Given the description of an element on the screen output the (x, y) to click on. 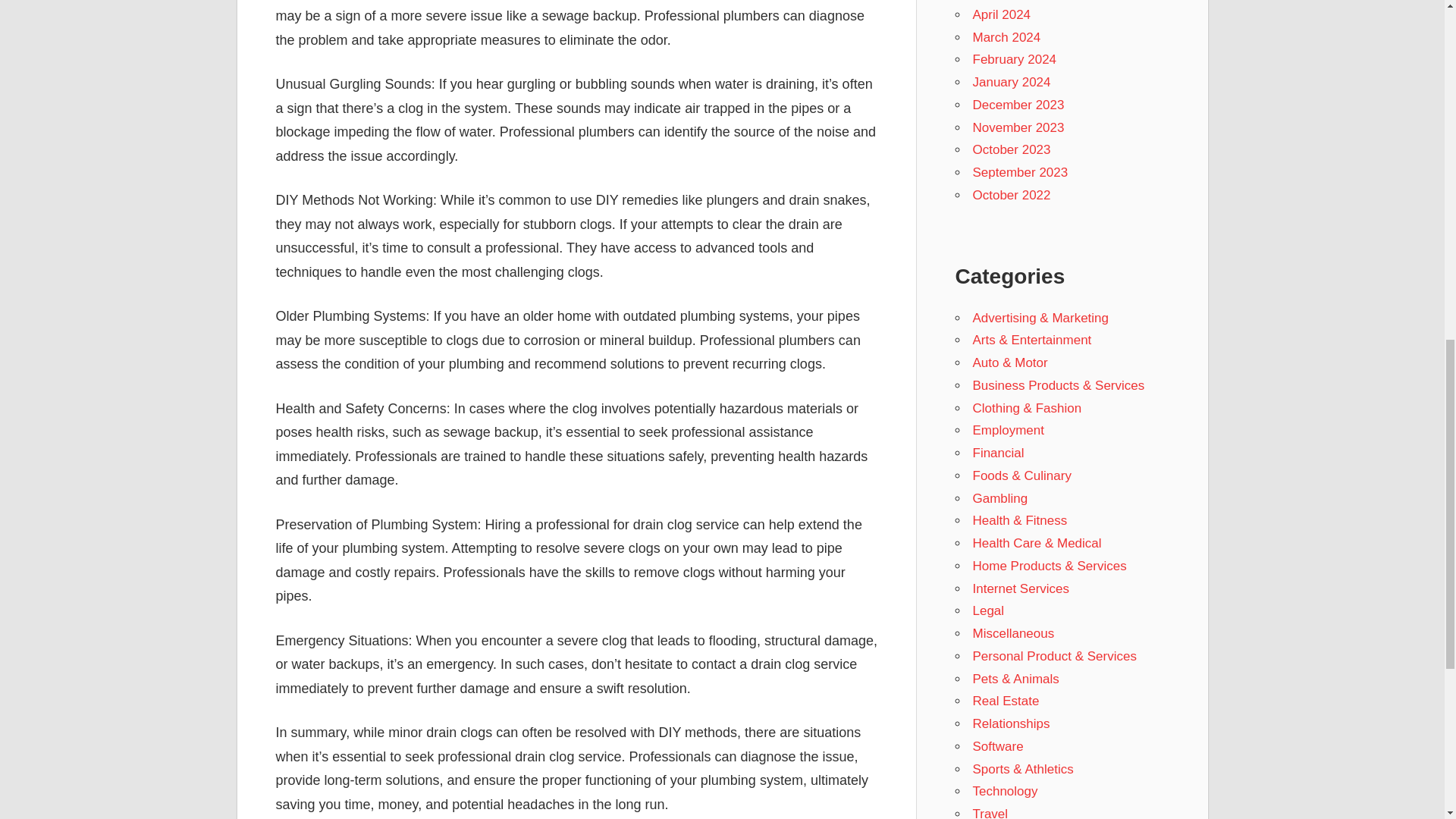
October 2023 (1010, 149)
October 2022 (1010, 195)
Financial (997, 452)
March 2024 (1006, 37)
April 2024 (1001, 14)
January 2024 (1010, 82)
December 2023 (1018, 104)
November 2023 (1018, 127)
Employment (1007, 430)
September 2023 (1019, 172)
